Given the description of an element on the screen output the (x, y) to click on. 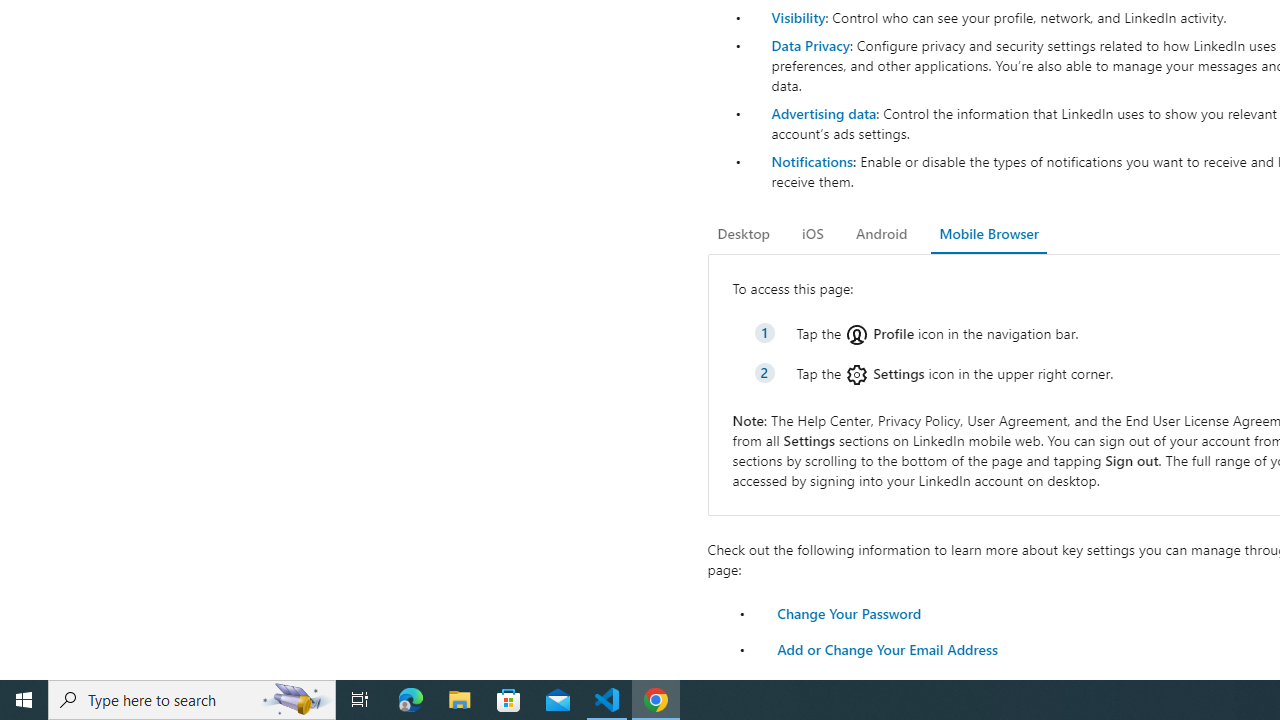
Change Your Password (848, 612)
Desktop (744, 234)
Add and Remove Mobile Phone Numbers (908, 684)
Data Privacy (809, 44)
Notifications (811, 161)
Visibility (797, 17)
Mobile Browser (988, 234)
Add or Change Your Email Address (887, 648)
Advertising data (823, 112)
Android (881, 234)
iOS (812, 234)
